Given the description of an element on the screen output the (x, y) to click on. 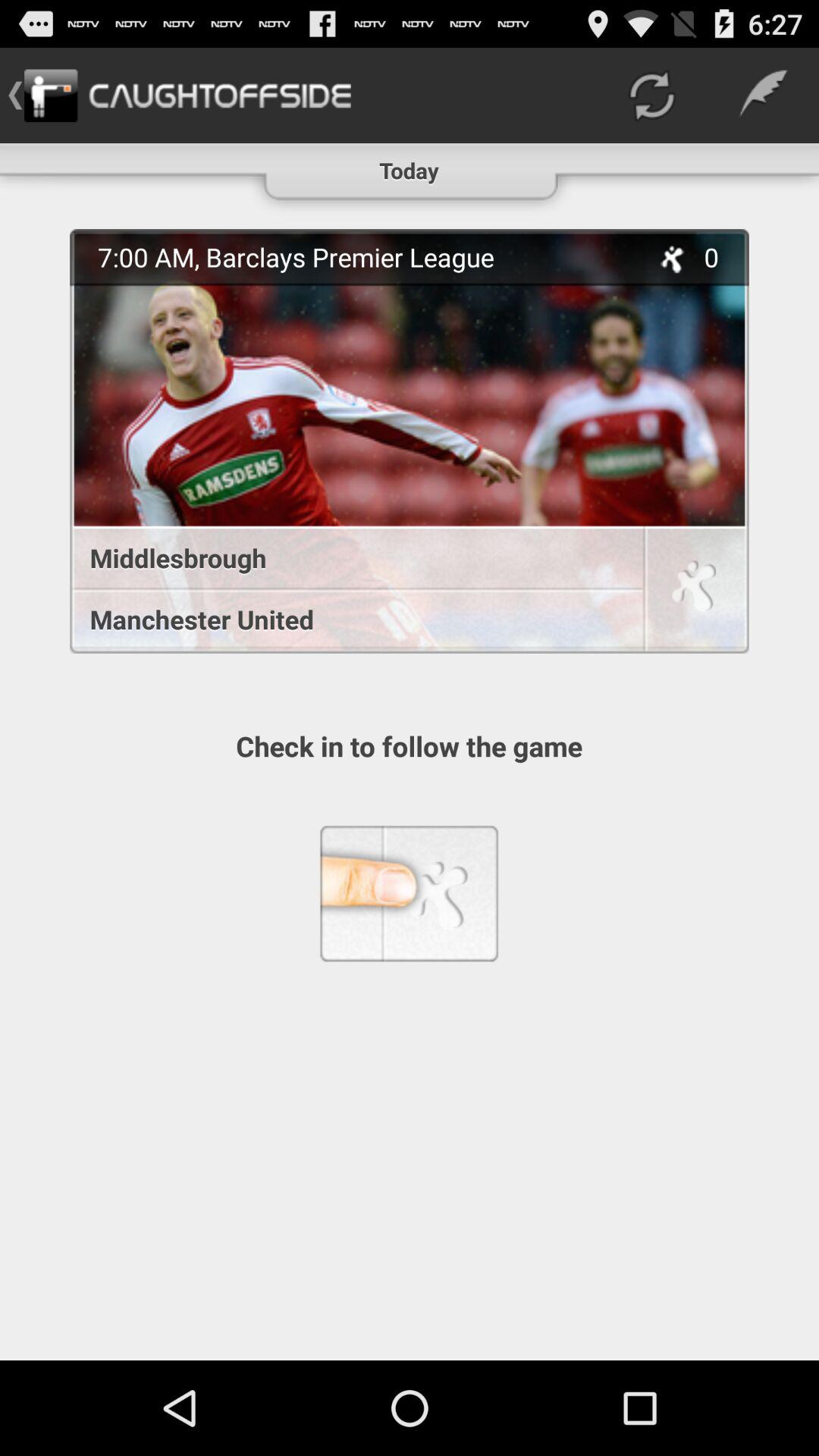
flip until 0 app (720, 256)
